Given the description of an element on the screen output the (x, y) to click on. 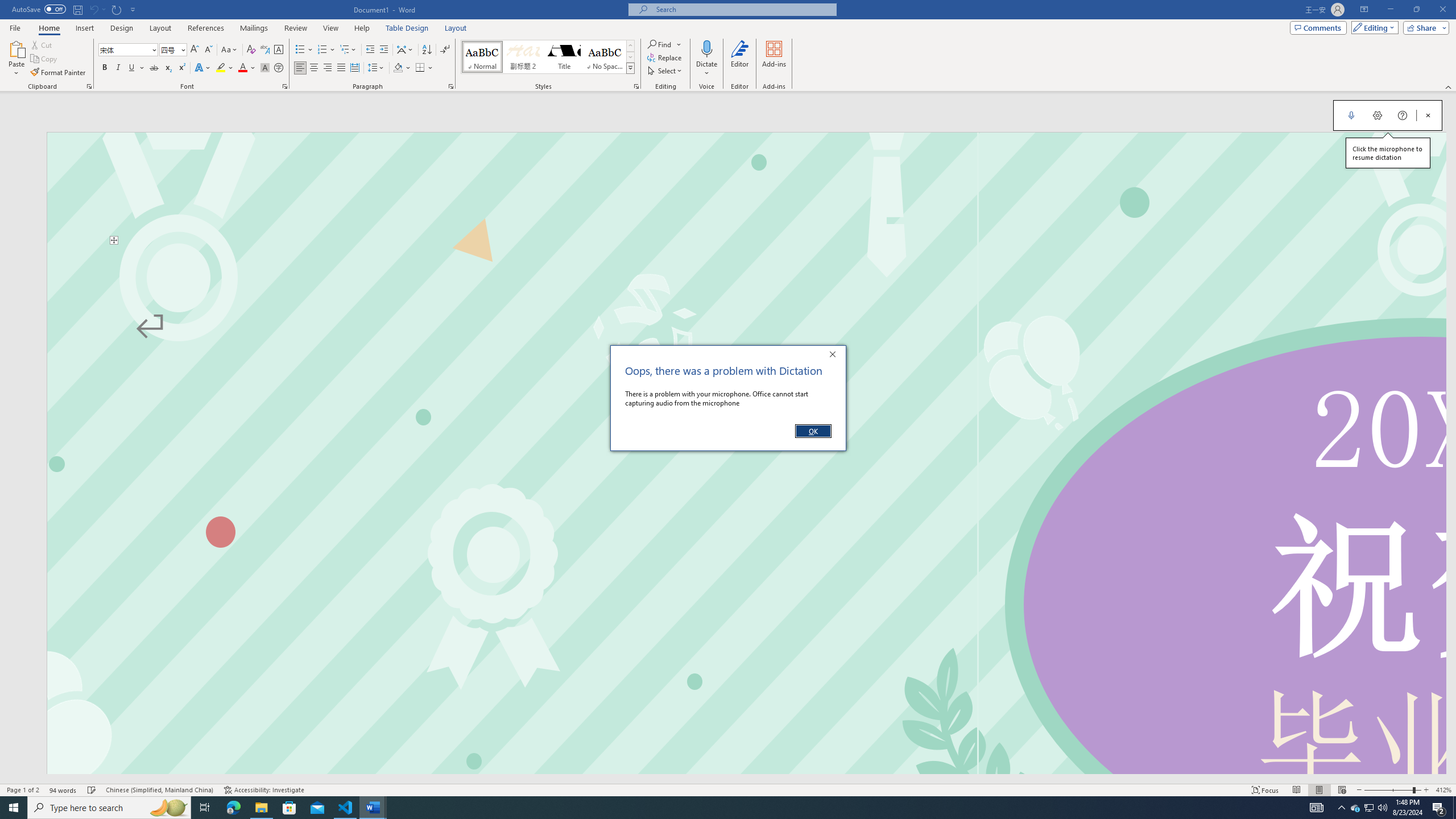
Repeat Start Office Dictation (117, 9)
